Given the description of an element on the screen output the (x, y) to click on. 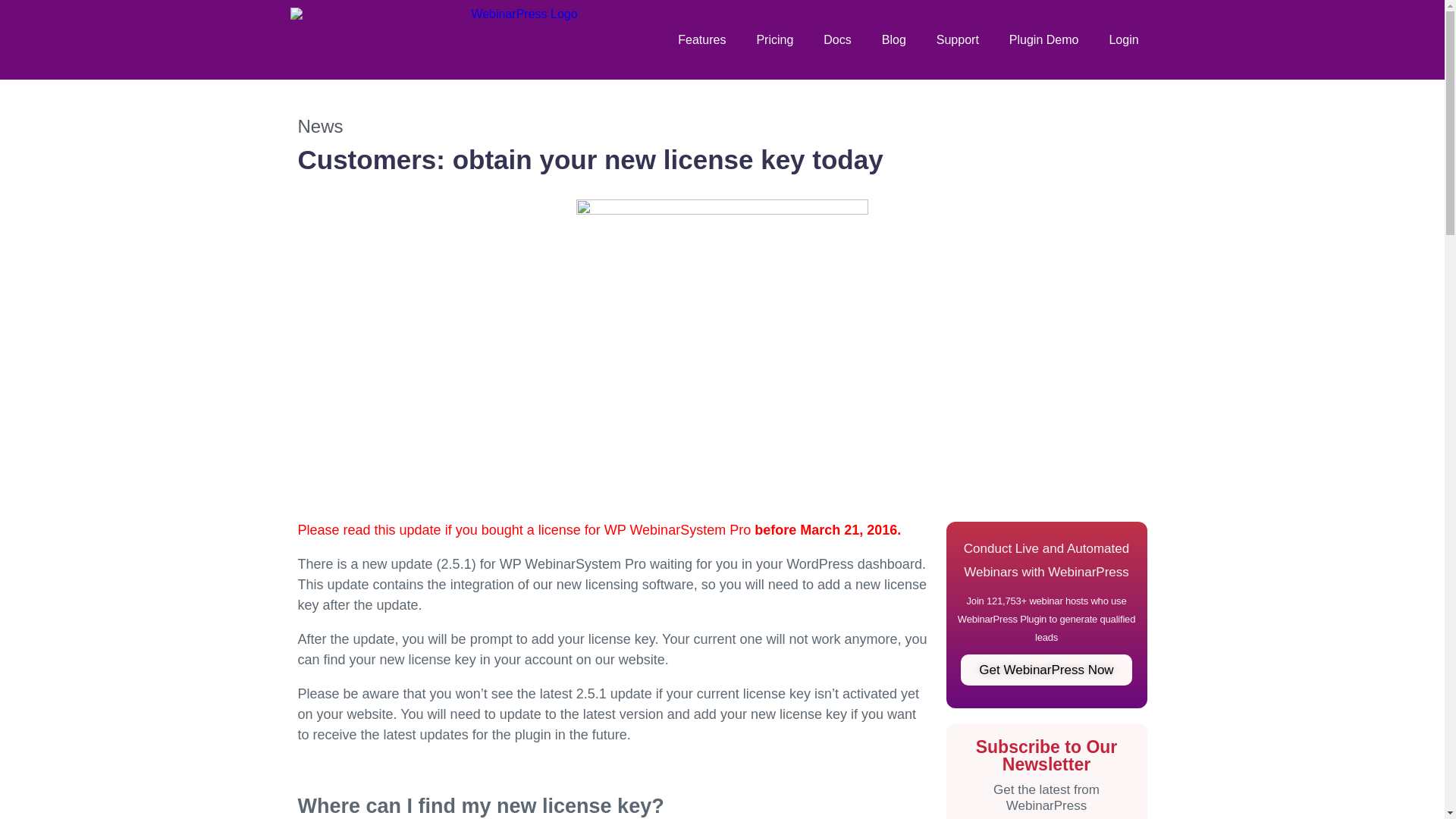
Login (1123, 39)
Support (957, 39)
Pricing (774, 39)
Features (701, 39)
Plugin Demo (1044, 39)
Docs (837, 39)
Blog (893, 39)
